Given the description of an element on the screen output the (x, y) to click on. 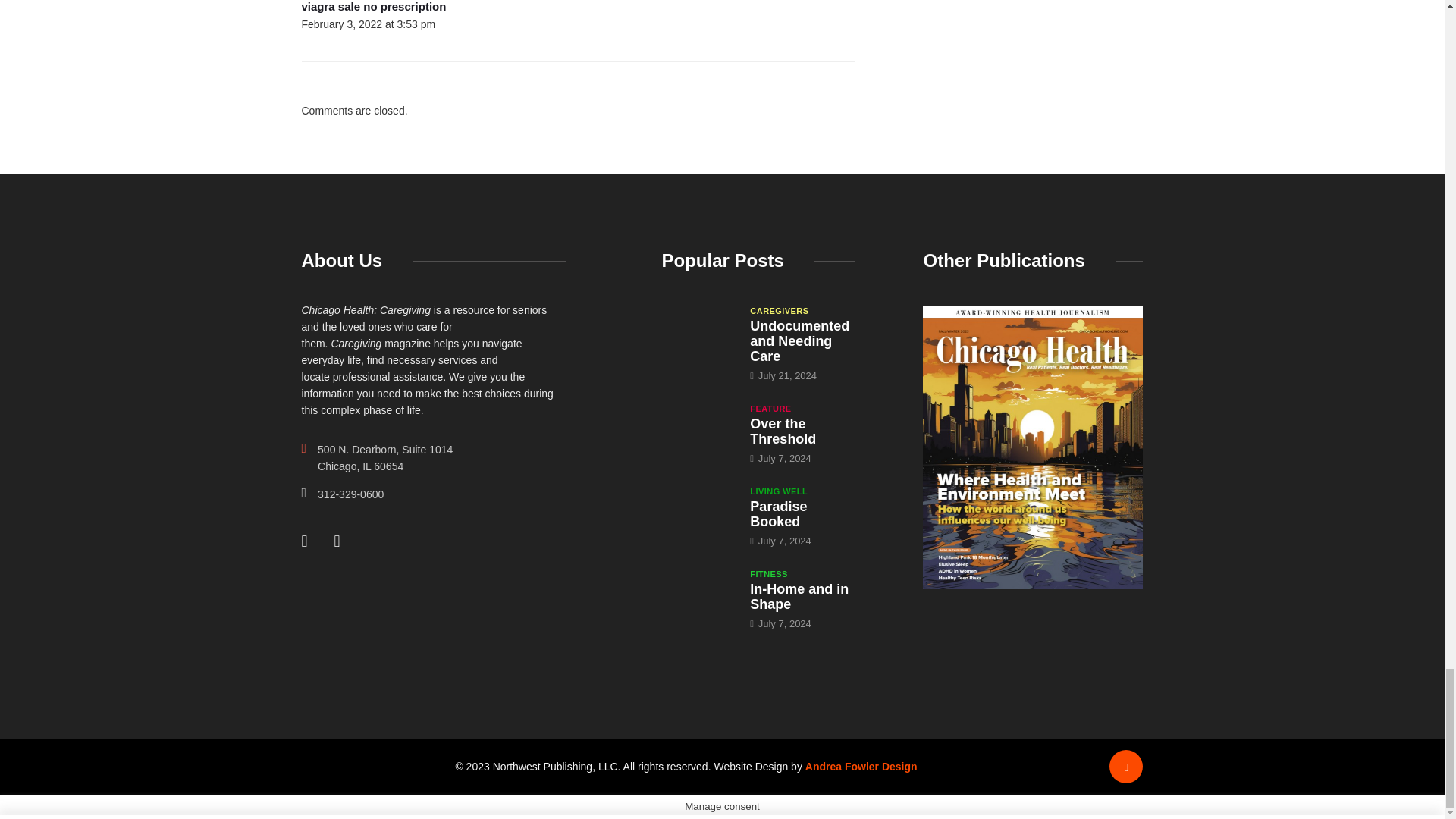
Paradise Booked (777, 513)
Undocumented and Needing Care (798, 340)
Over the Threshold (782, 431)
In-Home and in Shape (698, 594)
Over the Threshold (698, 428)
Paradise Booked (698, 511)
In-Home and in Shape (798, 596)
Undocumented and Needing Care (698, 331)
